Given the description of an element on the screen output the (x, y) to click on. 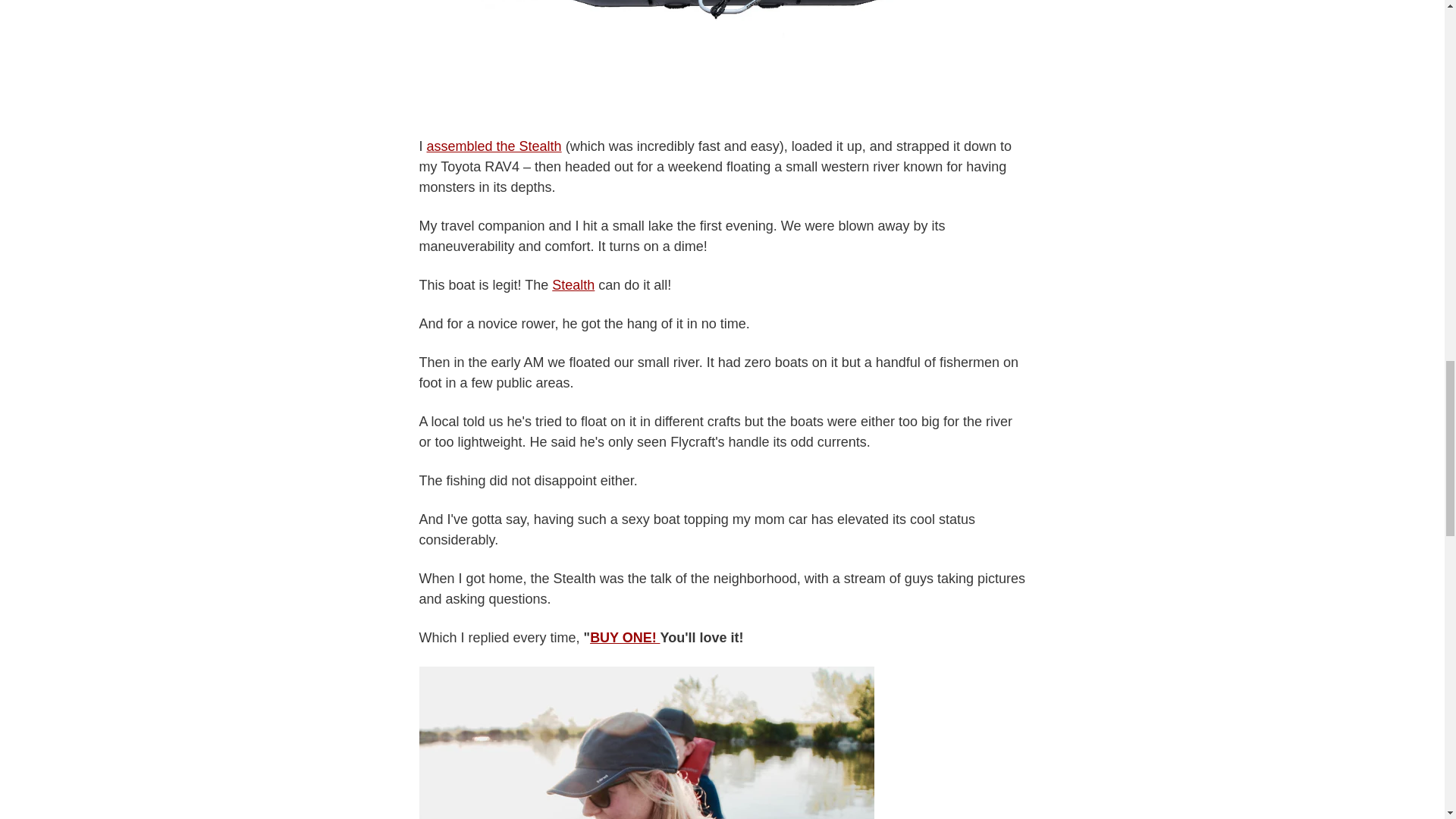
Flycraft Stealth Inflatable drift boat (572, 284)
Flycraft Inflatable Drift Boat (624, 637)
flycraft stealth inflatable drift boat (722, 107)
Flycraft Stealth fishing boat assembly inscructions (494, 145)
